Given the description of an element on the screen output the (x, y) to click on. 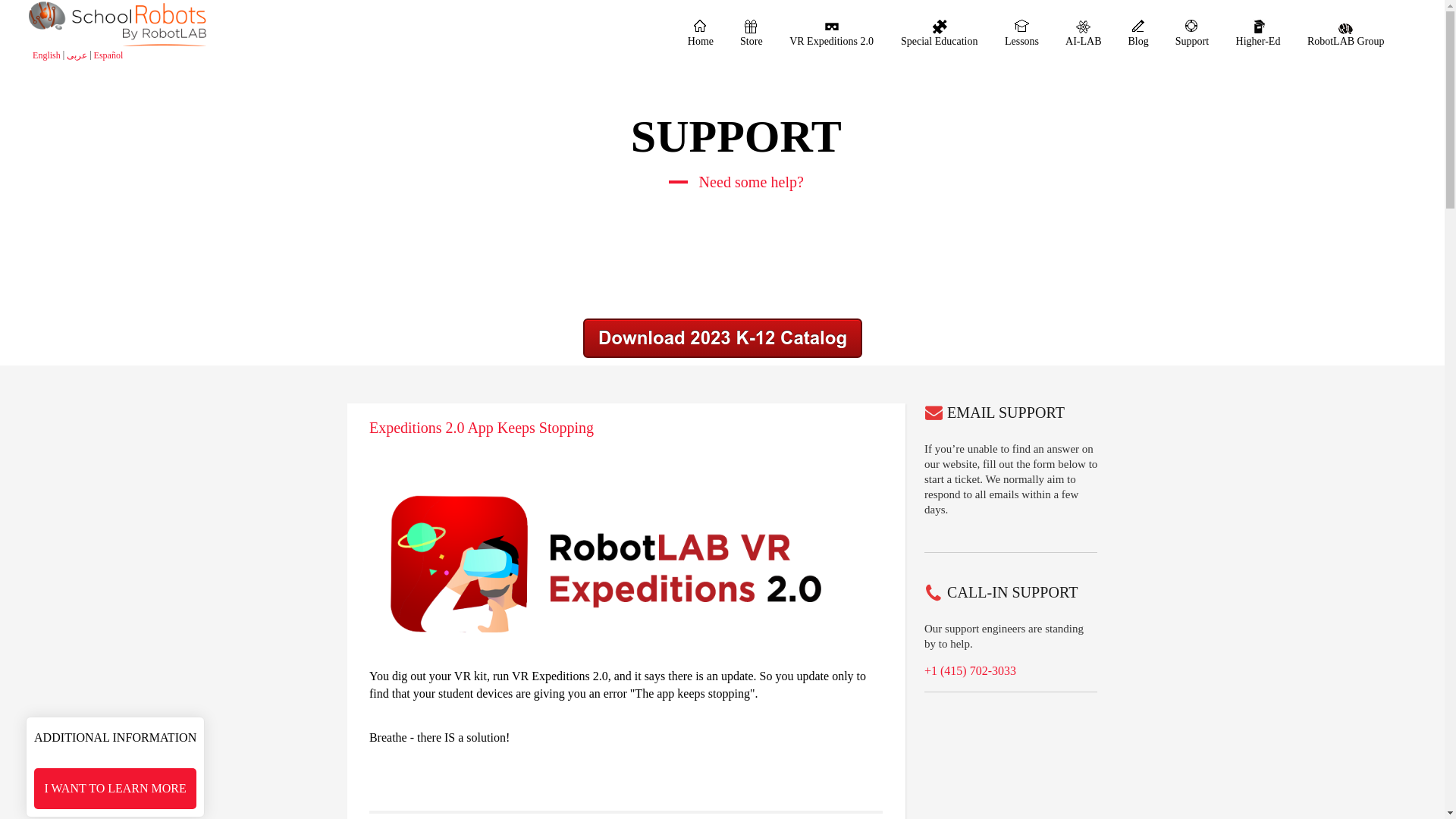
VR Expeditions 2.0 (830, 34)
Special Education (939, 34)
AI-LAB (1083, 34)
Store (751, 34)
Lessons (1021, 34)
Higher-Ed (1258, 34)
Expeditions 2.0 App Keeps Stopping (481, 427)
RobotLAB Group (1345, 34)
Support (1191, 34)
Blog (1138, 34)
